Given the description of an element on the screen output the (x, y) to click on. 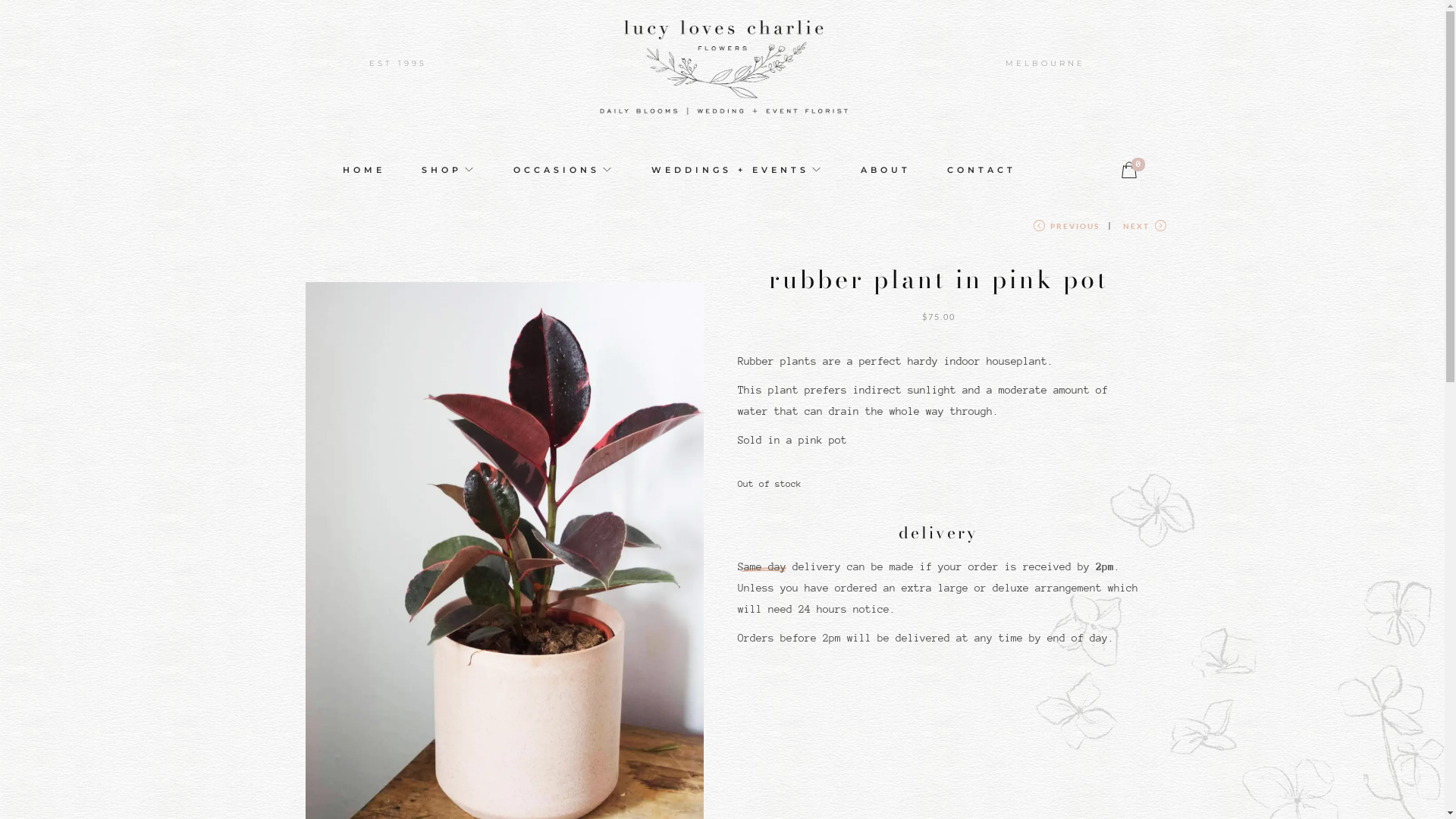
NEXT Element type: text (1143, 231)
OCCASIONS Element type: text (563, 169)
PREVIOUS Element type: text (1065, 231)
ABOUT Element type: text (884, 169)
CONTACT Element type: text (980, 169)
0 Element type: text (1128, 169)
Search Element type: text (950, 428)
HOME Element type: text (363, 169)
SHOP Element type: text (448, 169)
WEDDINGS + EVENTS Element type: text (736, 169)
